Given the description of an element on the screen output the (x, y) to click on. 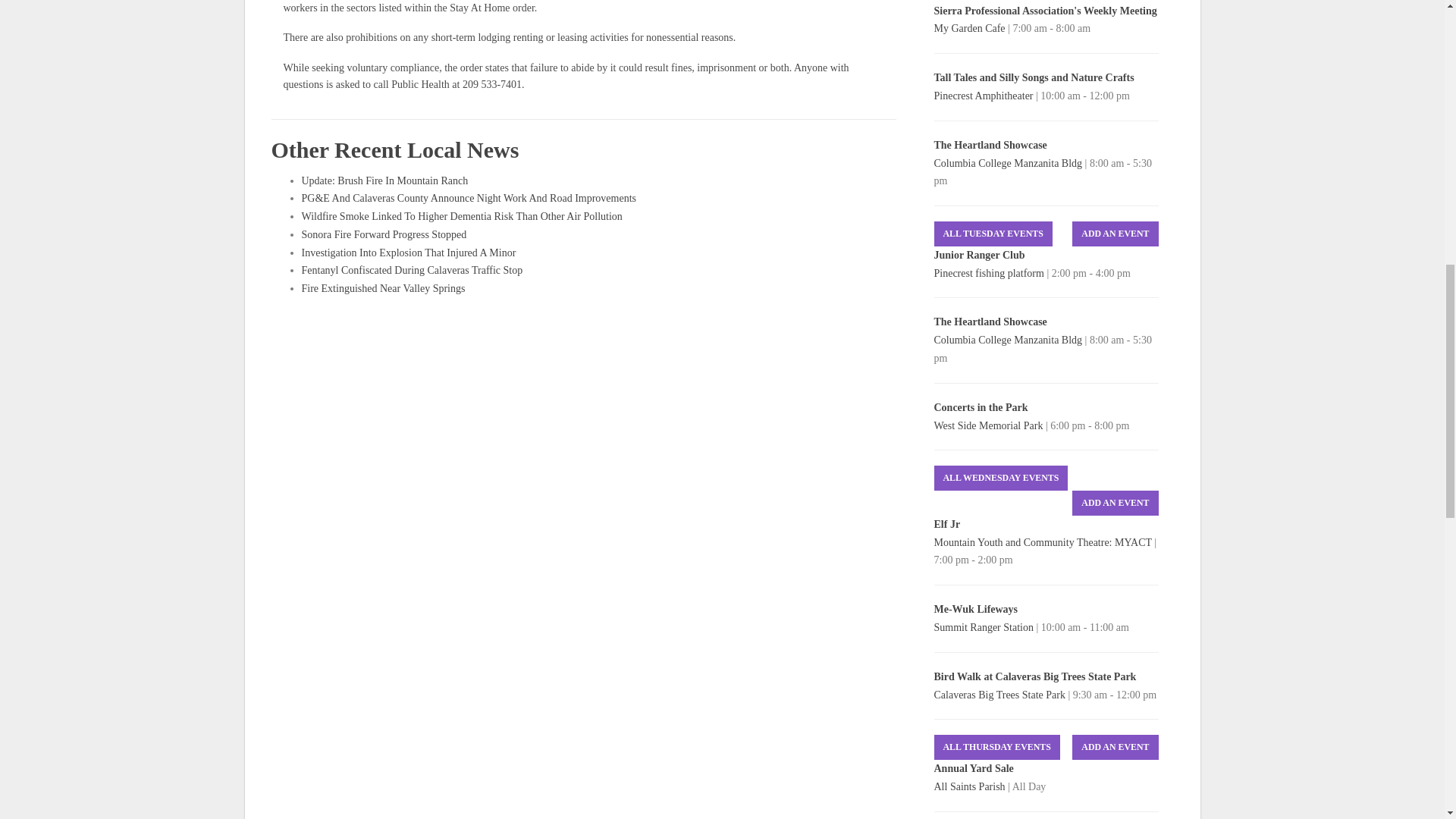
Add An Event (1114, 502)
Add An Event (1114, 747)
Add An Event (1114, 233)
All Thursday Events (996, 747)
All Wednesday Events (1001, 478)
All Tuesday Events (993, 233)
